Given the description of an element on the screen output the (x, y) to click on. 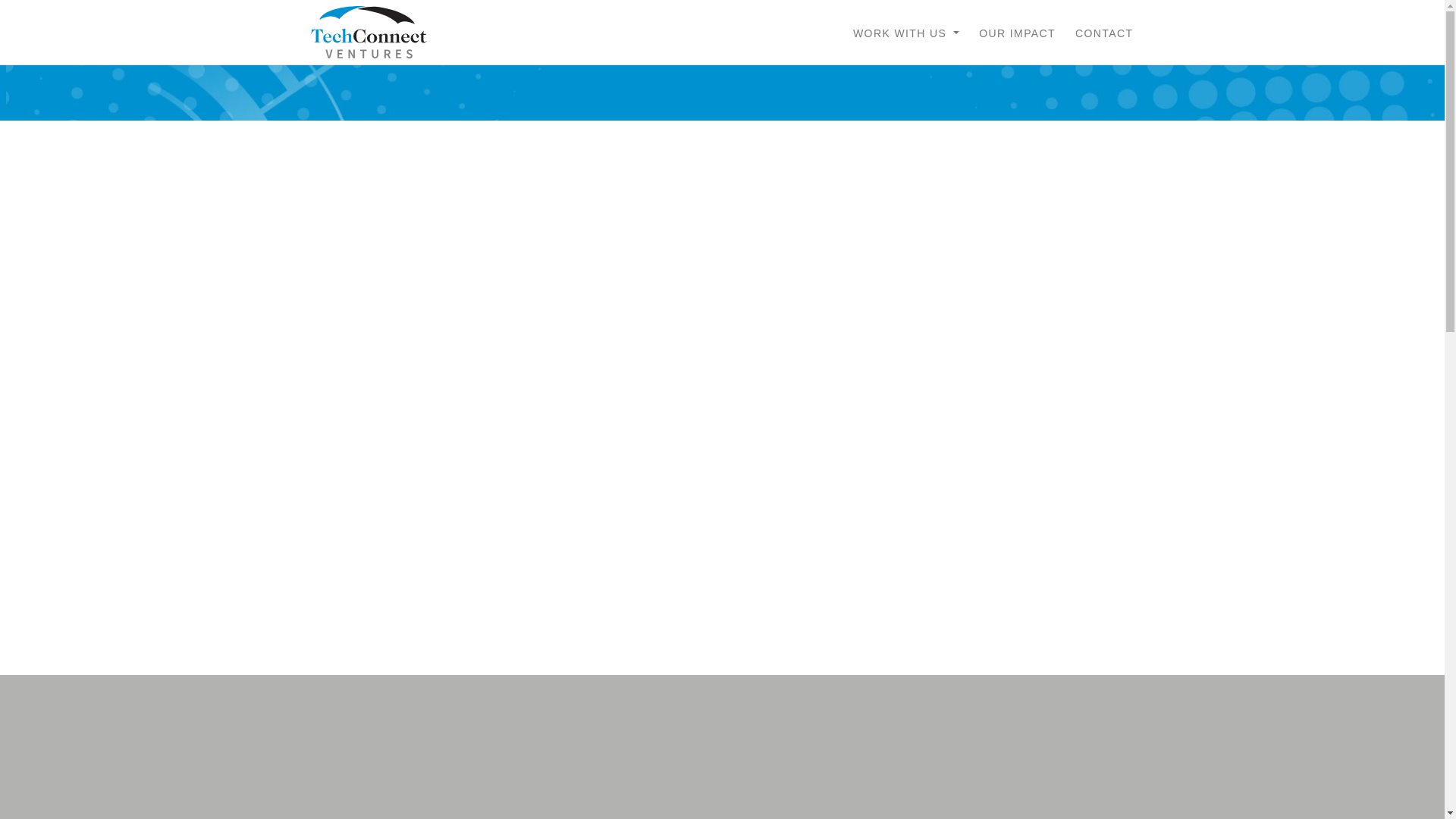
WORK WITH US (906, 32)
OUR IMPACT (1016, 32)
CONTACT (1103, 32)
